Given the description of an element on the screen output the (x, y) to click on. 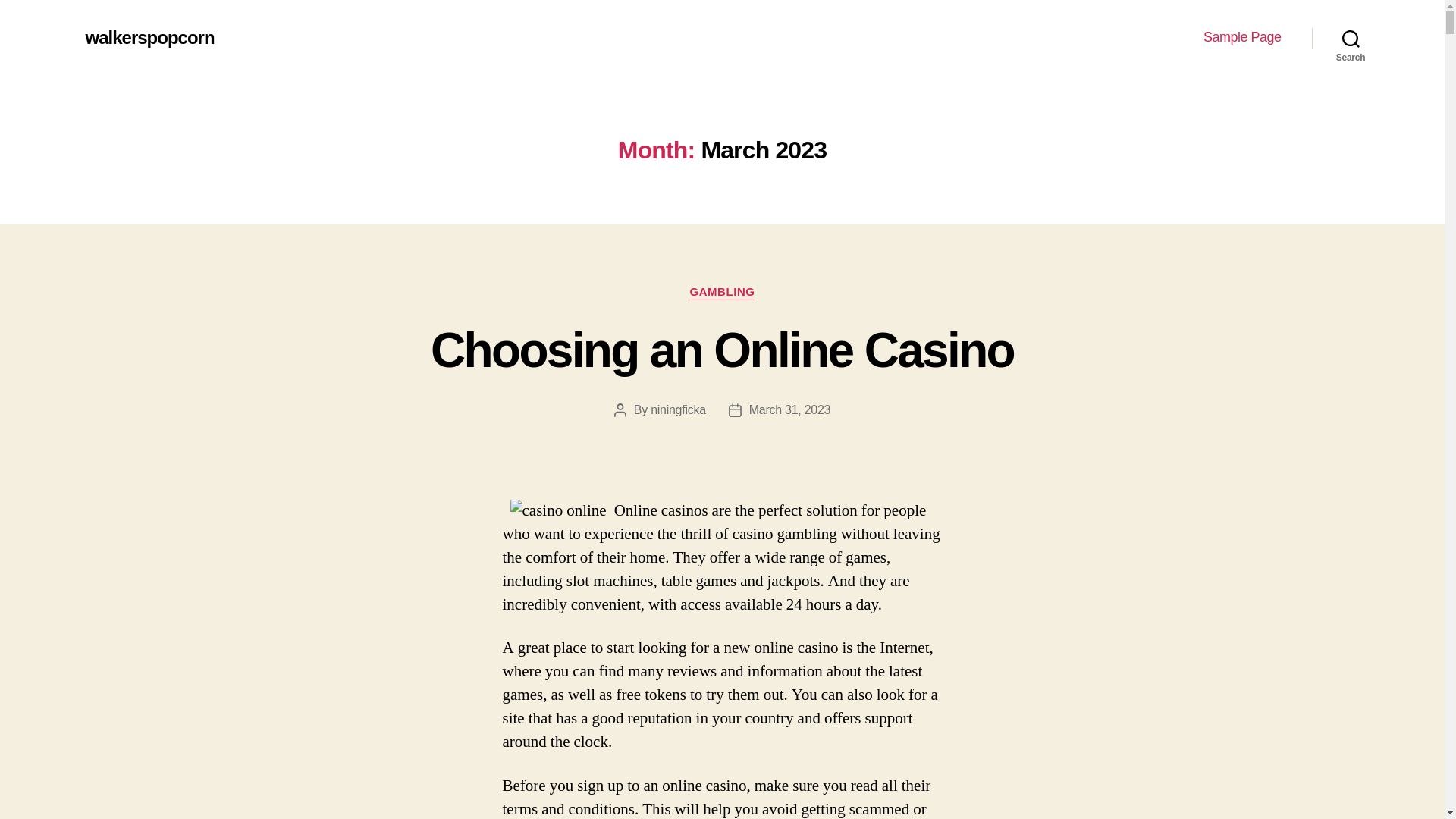
Sample Page (1242, 37)
March 31, 2023 (789, 409)
GAMBLING (721, 292)
walkerspopcorn (149, 37)
Search (1350, 37)
niningficka (678, 409)
Choosing an Online Casino (721, 349)
